Given the description of an element on the screen output the (x, y) to click on. 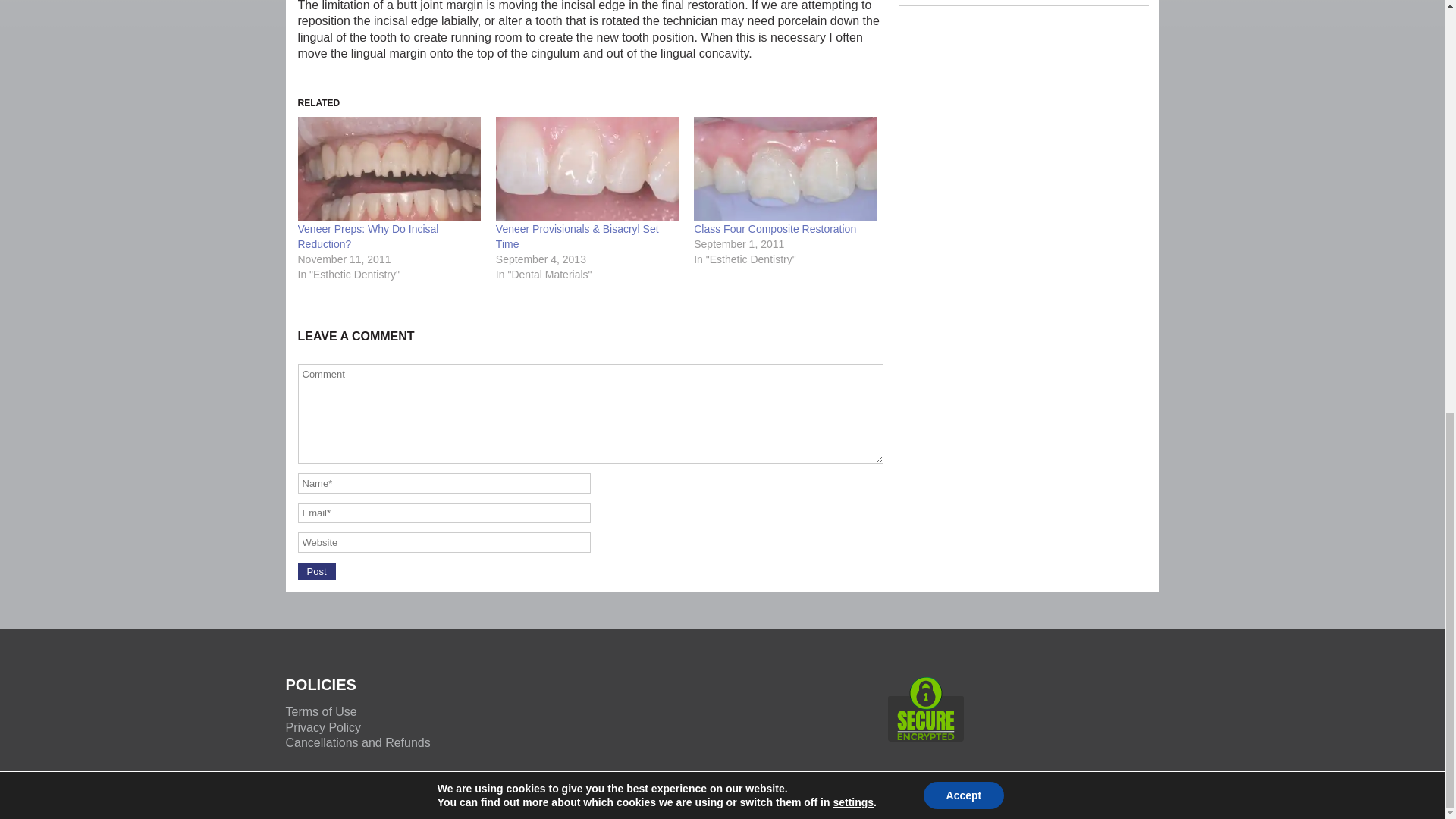
Veneer Preps: Why Do Incisal Reduction? (388, 169)
Veneer Preps: Why Do Incisal Reduction? (367, 236)
Post (315, 570)
Class Four Composite Restoration (785, 169)
Cancellations and Refunds (357, 742)
Terms of Use (320, 711)
Privacy Policy (323, 727)
Class Four Composite Restoration (775, 228)
Veneer Preps: Why Do Incisal Reduction? (367, 236)
Post (315, 570)
Class Four Composite Restoration (775, 228)
